Given the description of an element on the screen output the (x, y) to click on. 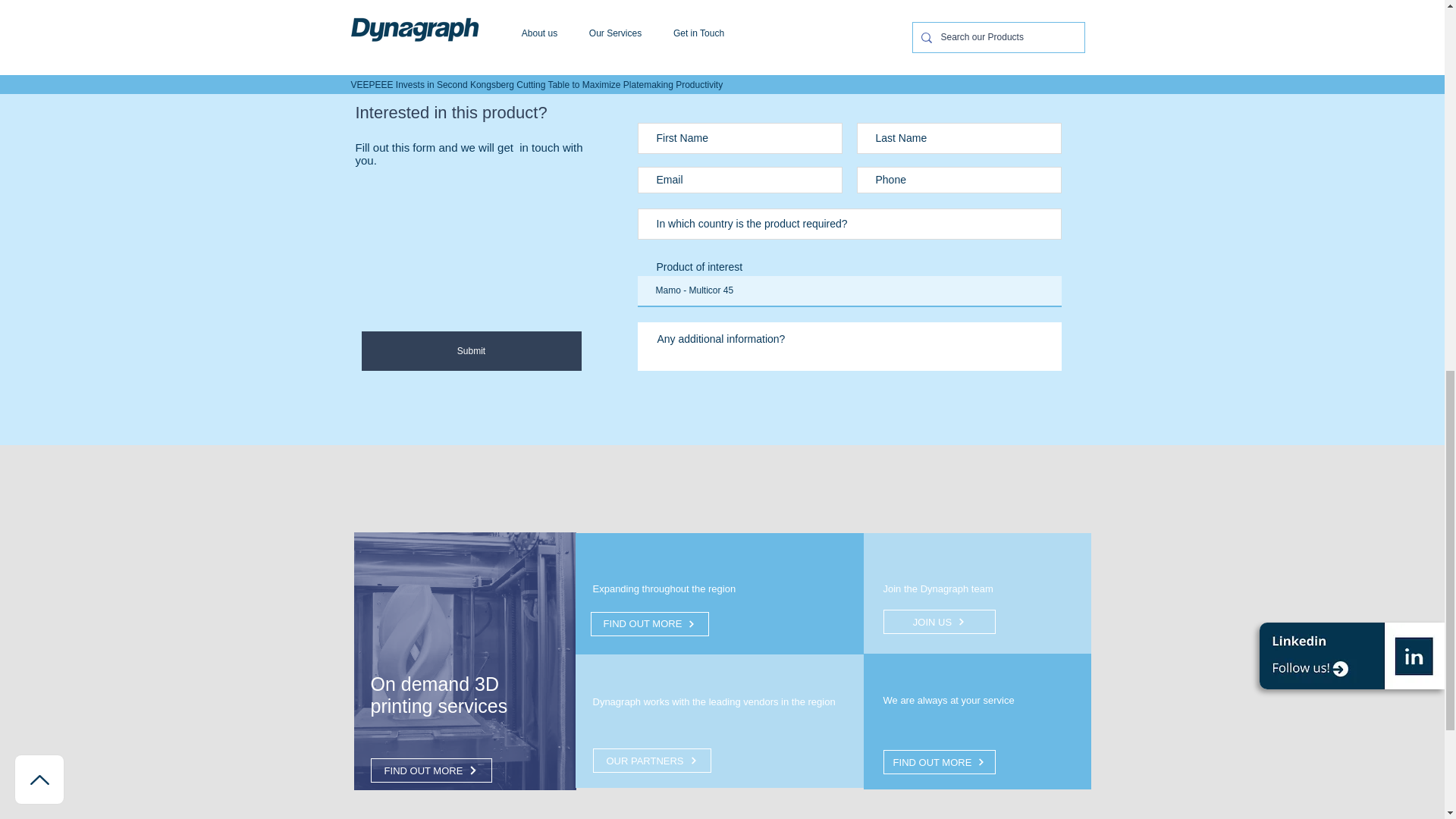
FIND OUT MORE (648, 623)
JOIN US (938, 621)
OUR PARTNERS (651, 760)
FIND OUT MORE (430, 770)
Mamo - Multicor 45 (849, 291)
Submit (470, 351)
FIND OUT MORE (938, 761)
